Given the description of an element on the screen output the (x, y) to click on. 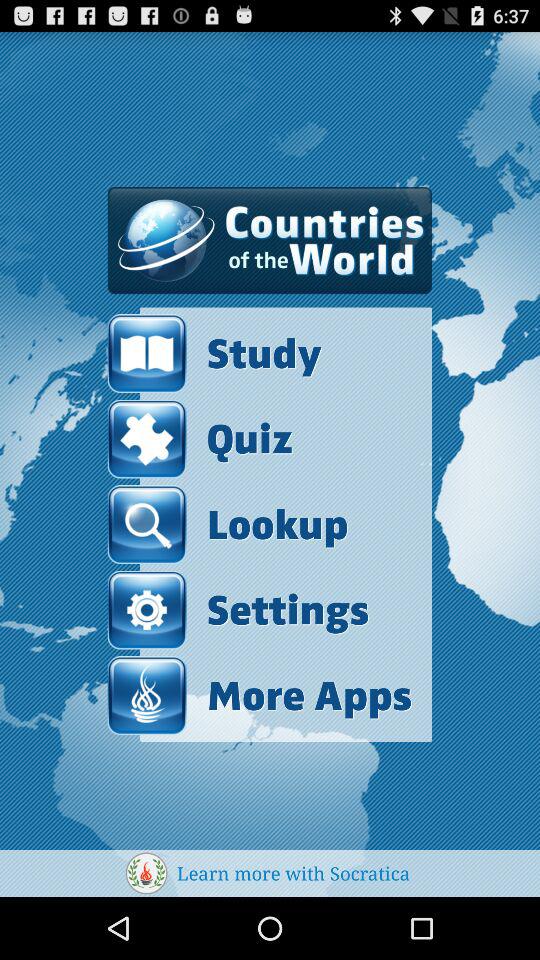
tap icon above more apps item (238, 609)
